Given the description of an element on the screen output the (x, y) to click on. 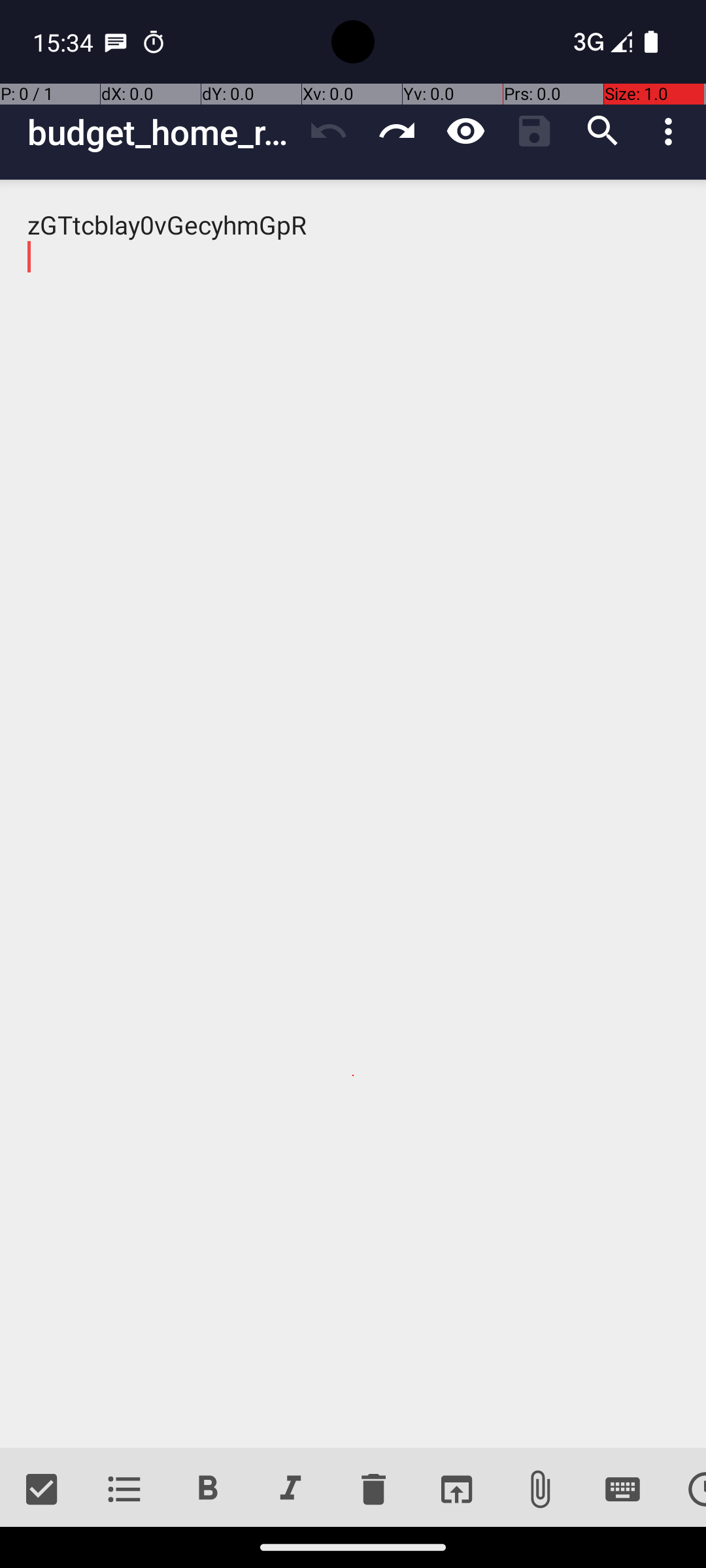
budget_home_renovation_2023_08_10 Element type: android.widget.TextView (160, 131)
zGTtcblay0vGecyhmGpR
 Element type: android.widget.EditText (353, 813)
